Given the description of an element on the screen output the (x, y) to click on. 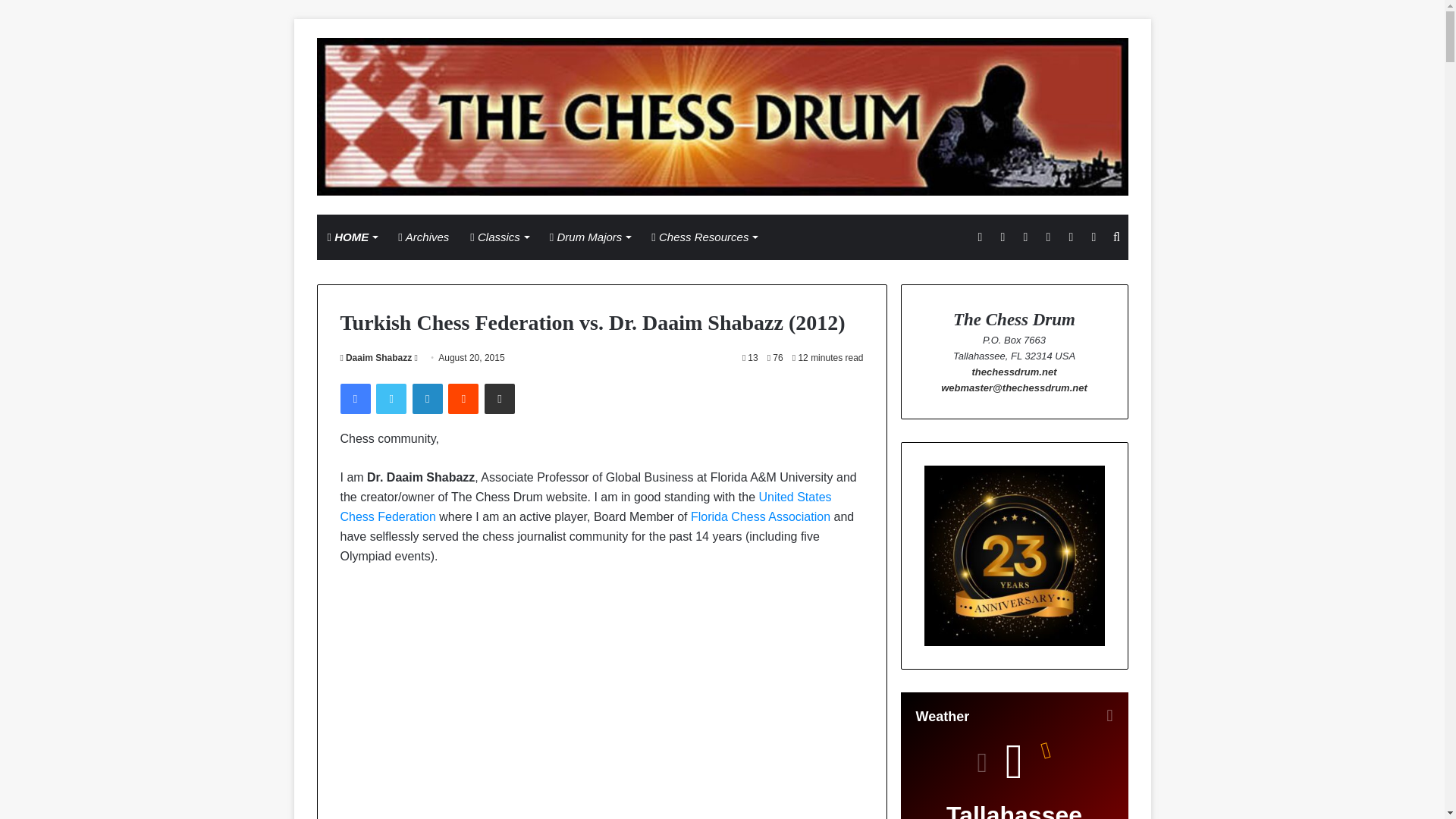
Share via Email (499, 399)
Archives (423, 237)
Drum Majors (590, 237)
Chess Resources (703, 237)
Classics (499, 237)
HOME (352, 237)
Facebook (354, 399)
LinkedIn (427, 399)
Florida Chess Association (759, 516)
Facebook (354, 399)
